Given the description of an element on the screen output the (x, y) to click on. 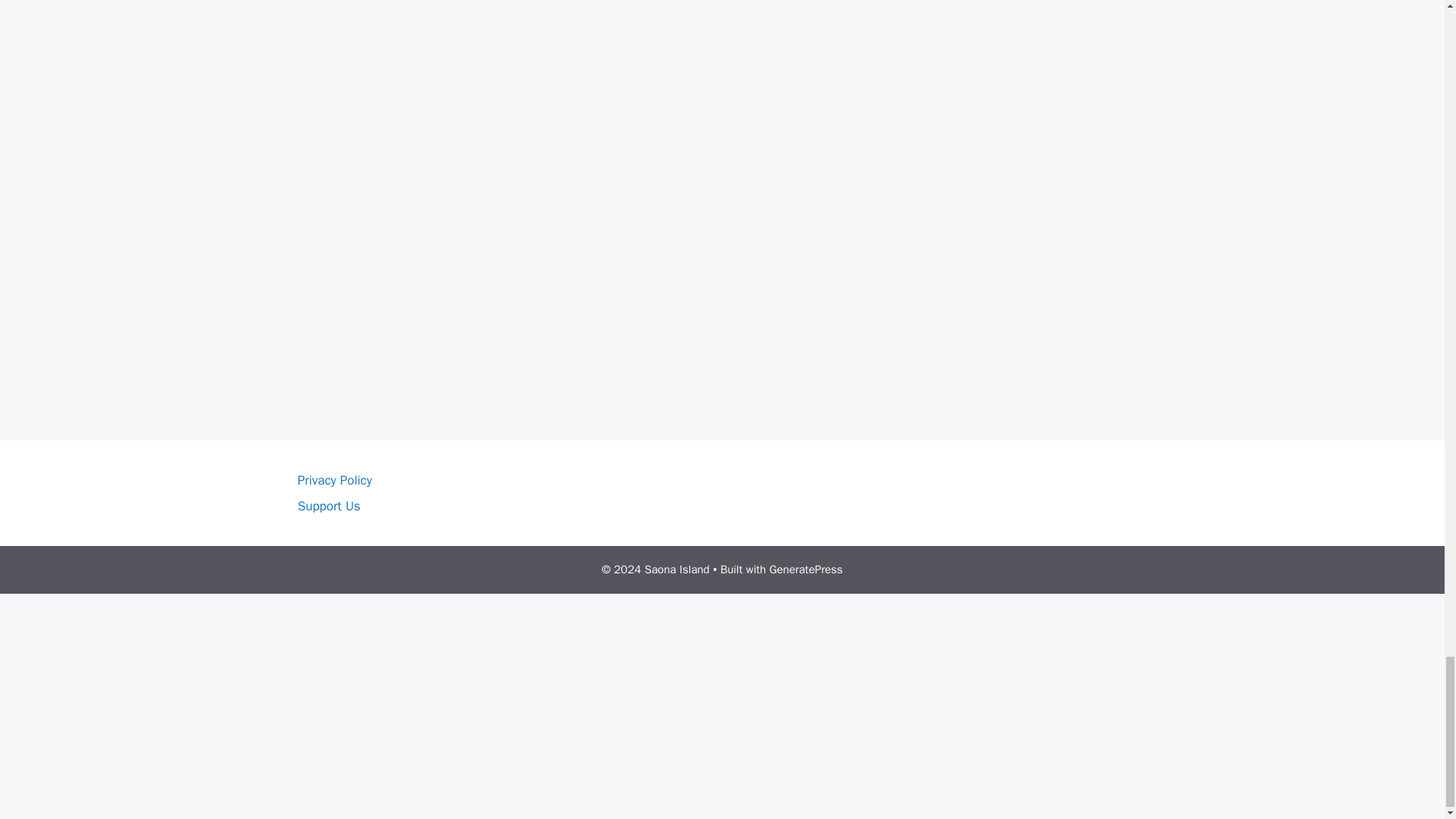
GeneratePress (806, 569)
Privacy Policy (334, 480)
Support Us (328, 505)
